Given the description of an element on the screen output the (x, y) to click on. 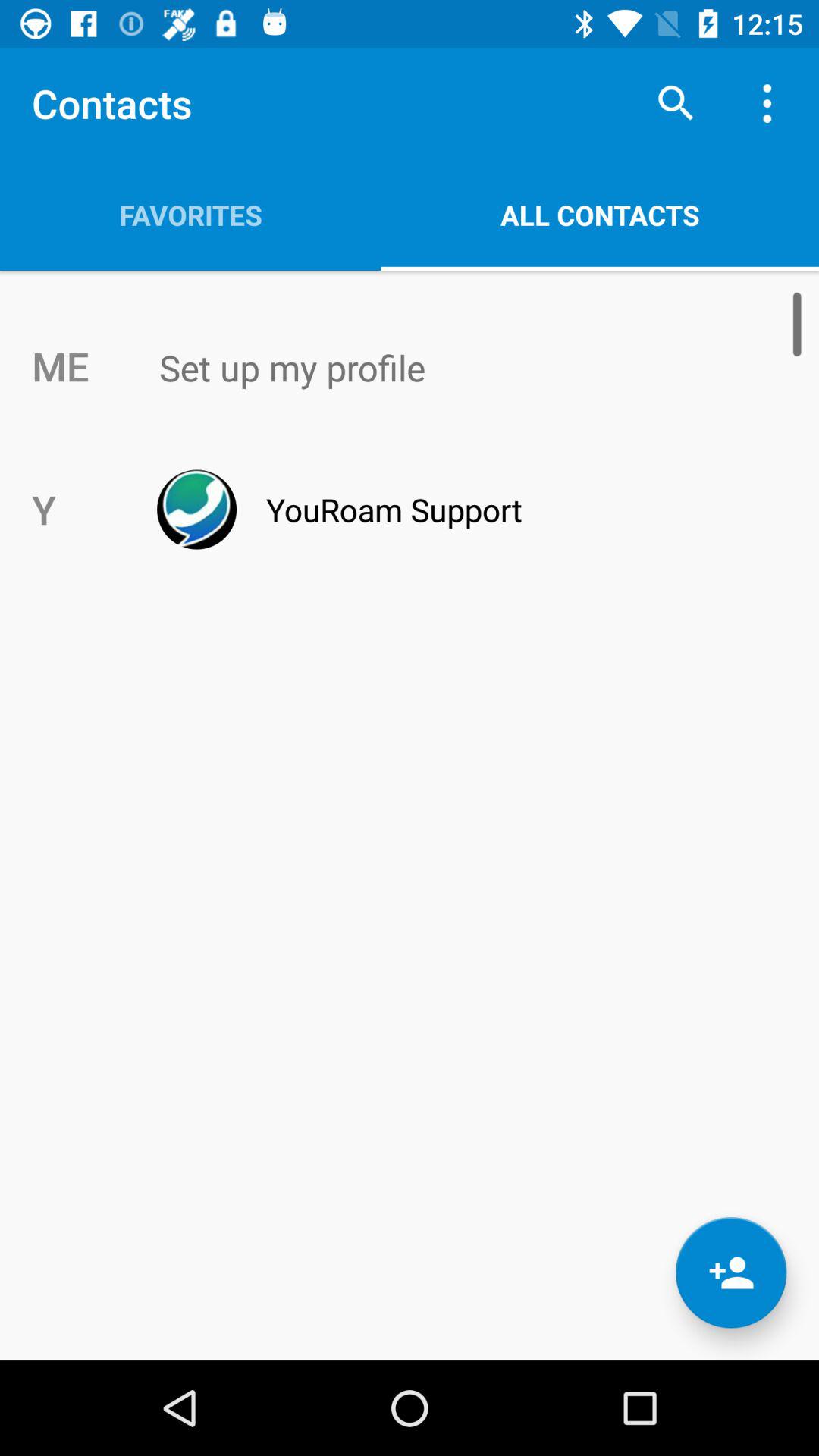
tap item above the set up my icon (600, 214)
